Given the description of an element on the screen output the (x, y) to click on. 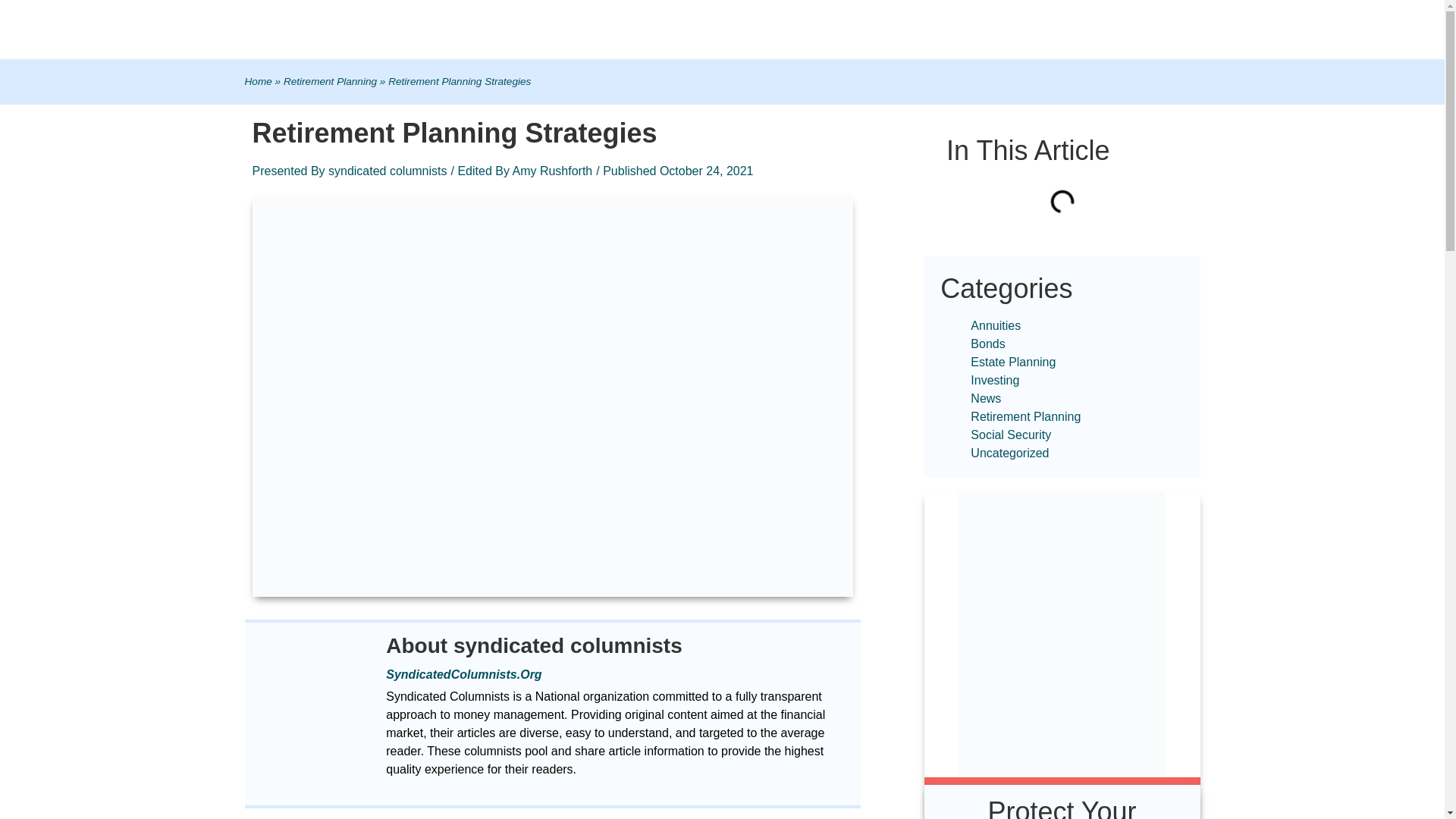
Presented By syndicated columnists (348, 171)
Home (257, 81)
SyndicatedColumnists.Org (463, 674)
Retirement Planning (330, 81)
